Given the description of an element on the screen output the (x, y) to click on. 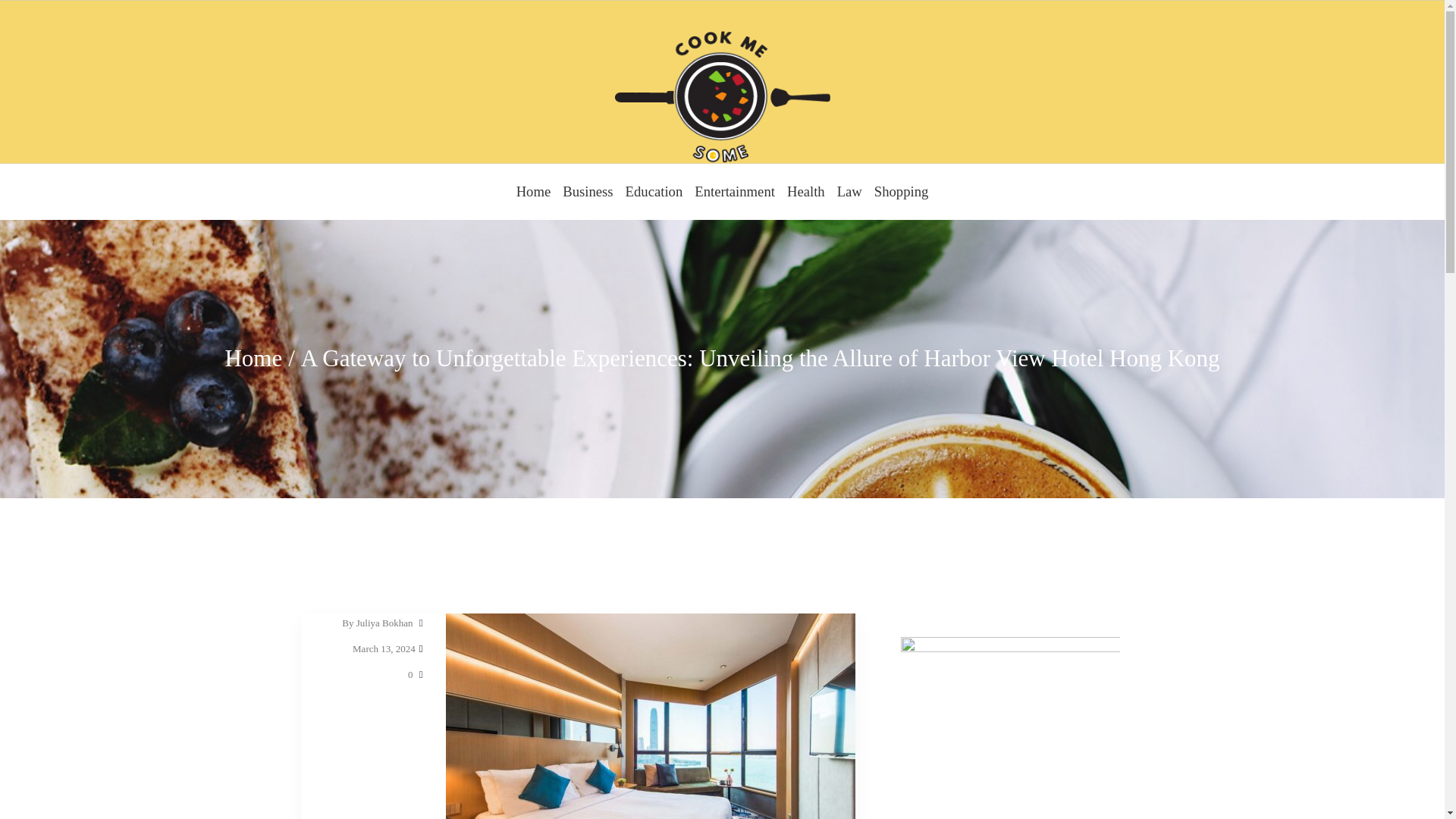
Home (534, 191)
Business (587, 191)
Home (253, 357)
Shopping (900, 191)
Education (654, 191)
Entertainment (734, 191)
Home (534, 191)
Health (805, 191)
Law (849, 191)
Entertainment (734, 191)
